Given the description of an element on the screen output the (x, y) to click on. 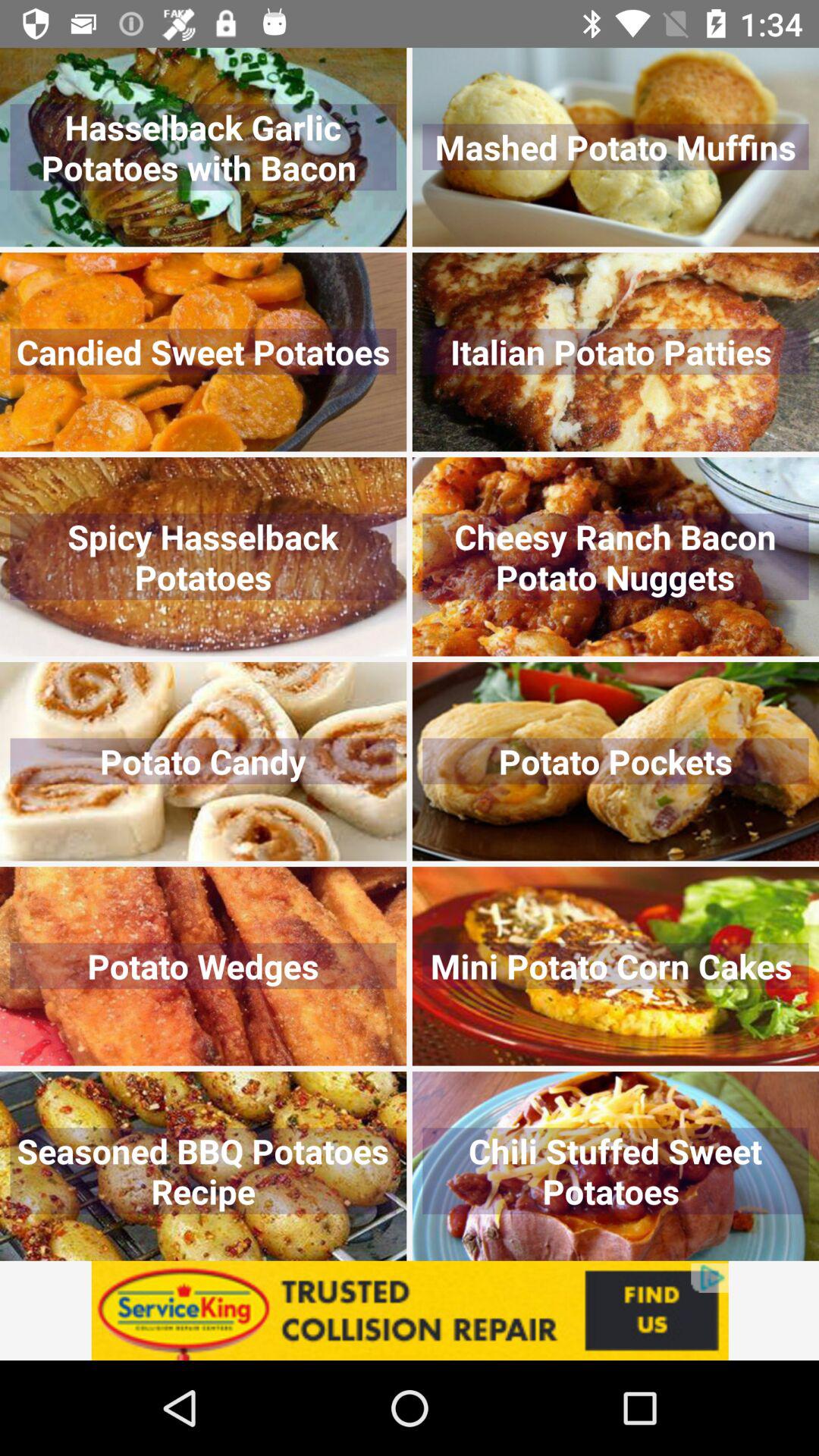
select the image which is below mashed potato muffins on the page (615, 351)
